Given the description of an element on the screen output the (x, y) to click on. 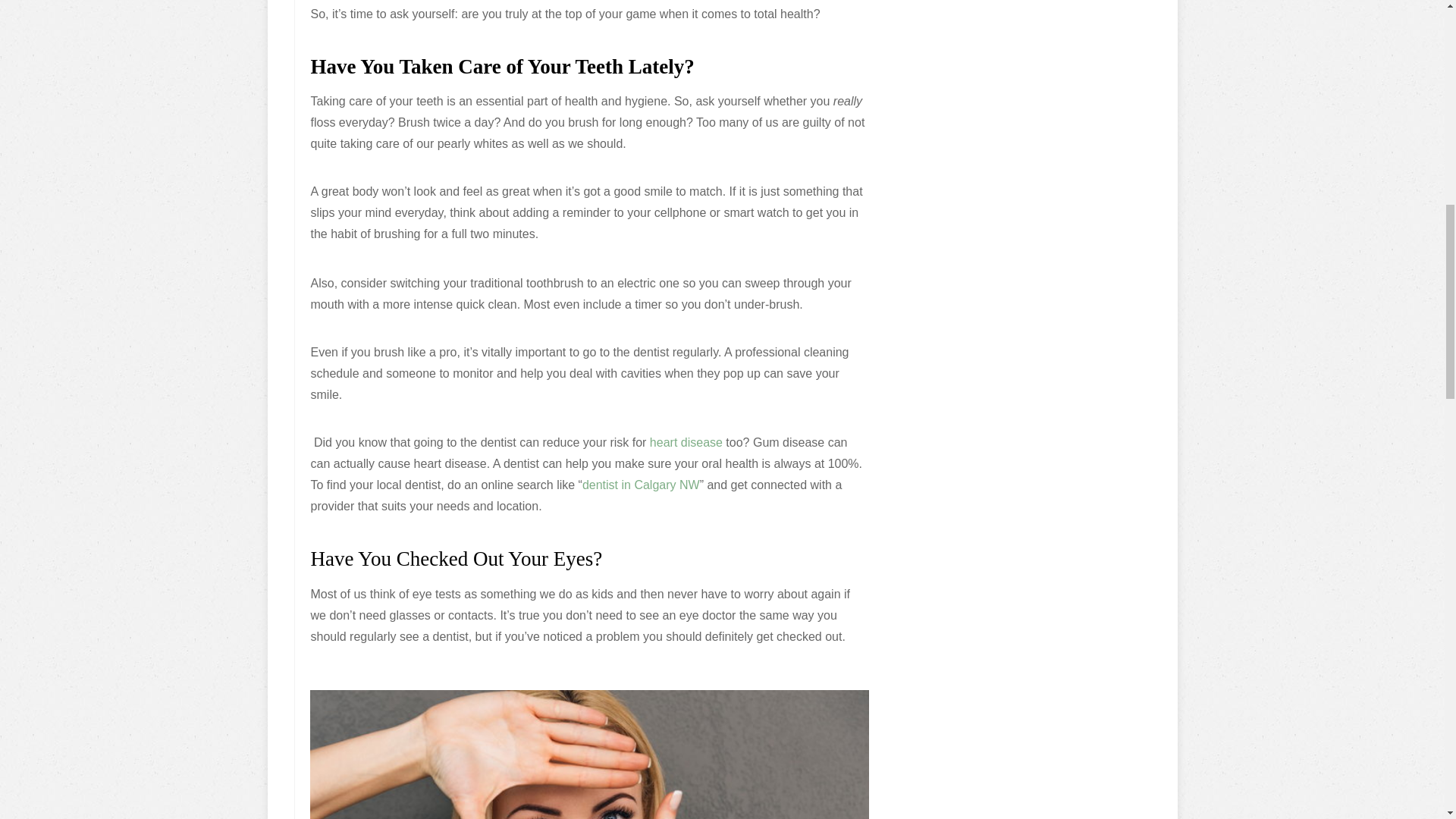
dentist in Calgary NW (641, 484)
eye-check- (587, 754)
heart disease (685, 441)
